Given the description of an element on the screen output the (x, y) to click on. 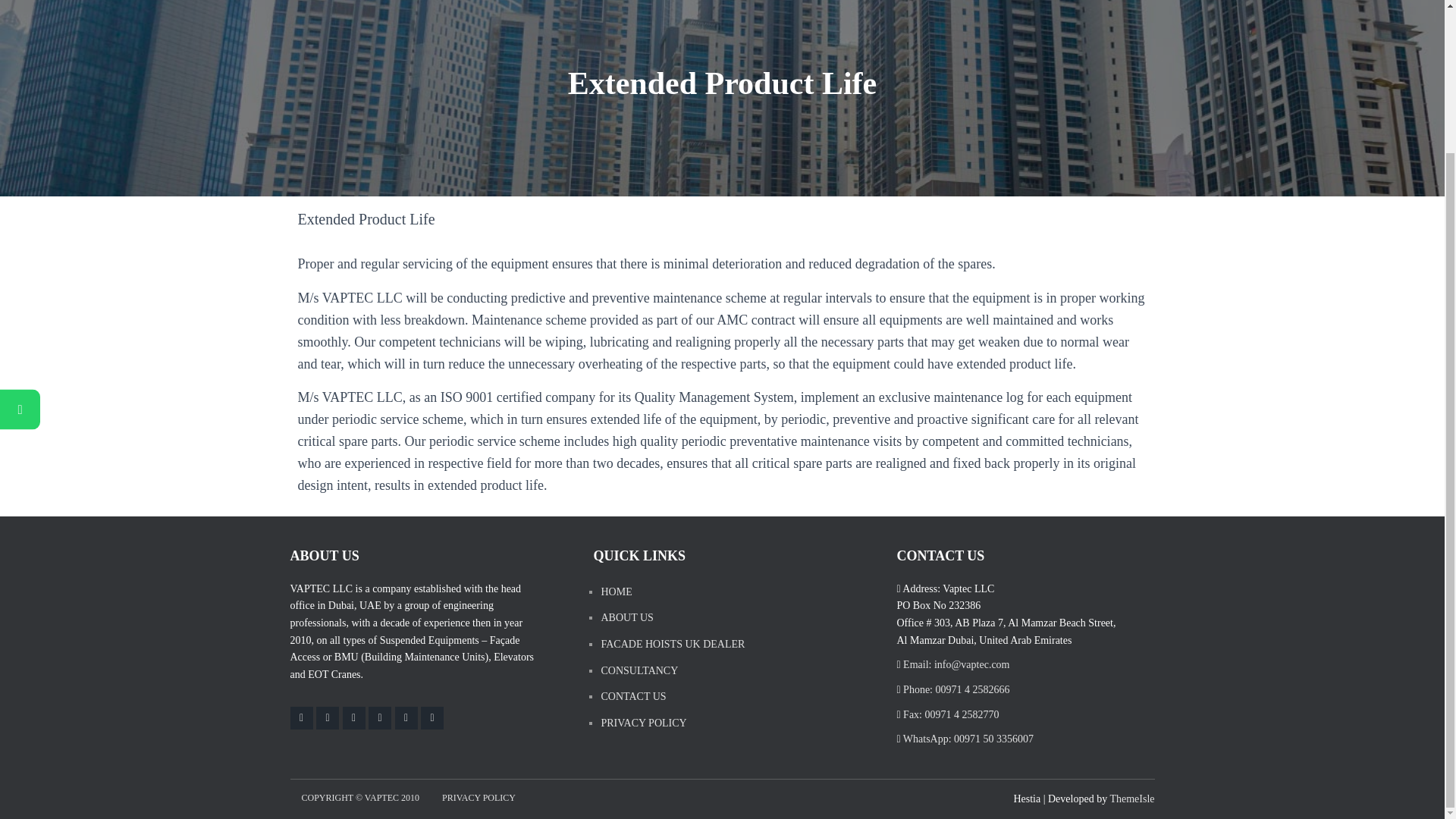
HOME (615, 591)
CONSULTANCY (638, 671)
CONTACT US (632, 696)
FACADE HOISTS UK DEALER (671, 644)
ABOUT US (625, 617)
